Given the description of an element on the screen output the (x, y) to click on. 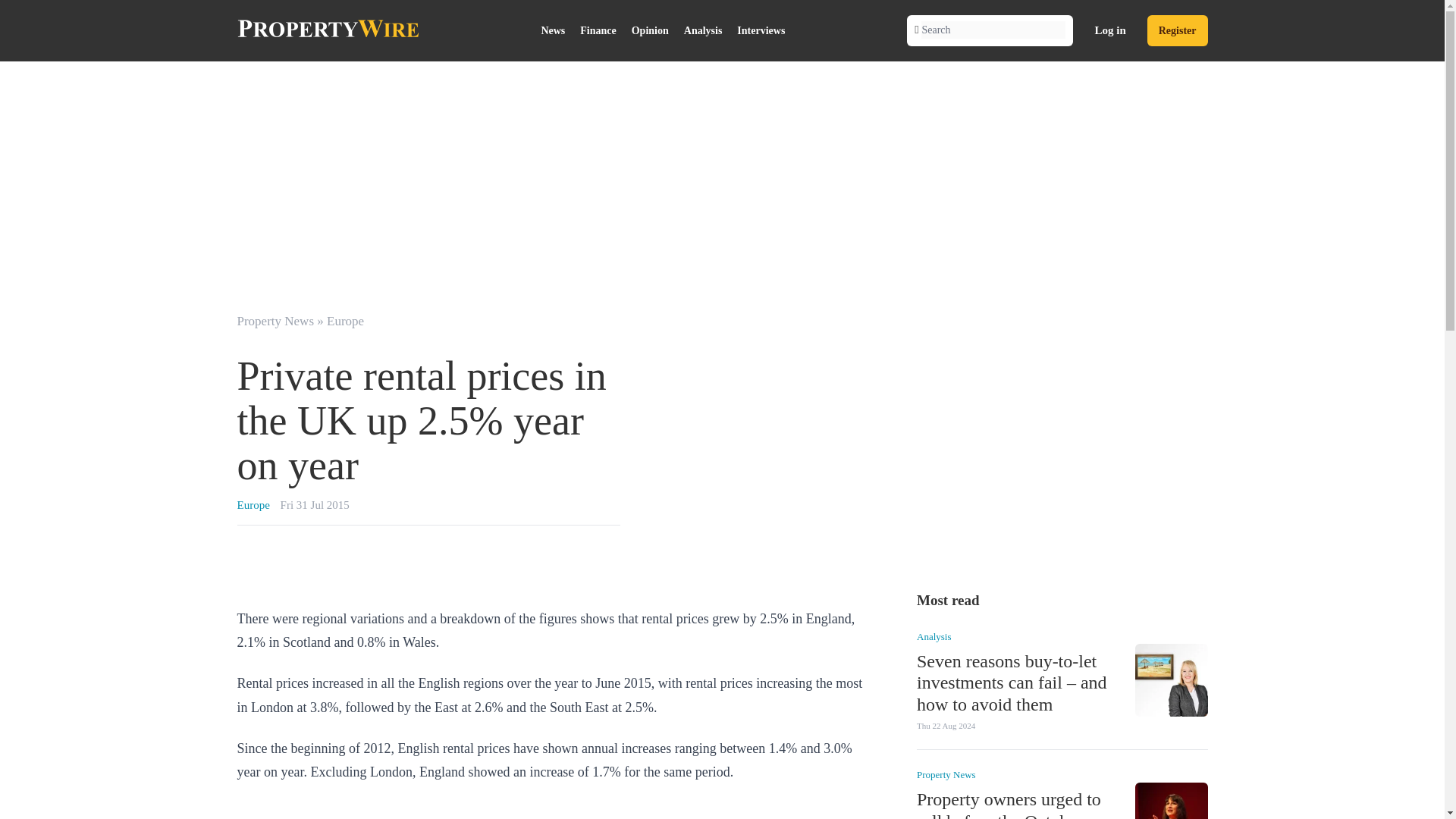
Log in (1109, 30)
Interviews (760, 30)
Europe (345, 320)
Finance (597, 30)
Europe (252, 504)
Property News (945, 774)
Search for: (993, 29)
Property News (274, 320)
News (552, 30)
Opinion (650, 30)
